Given the description of an element on the screen output the (x, y) to click on. 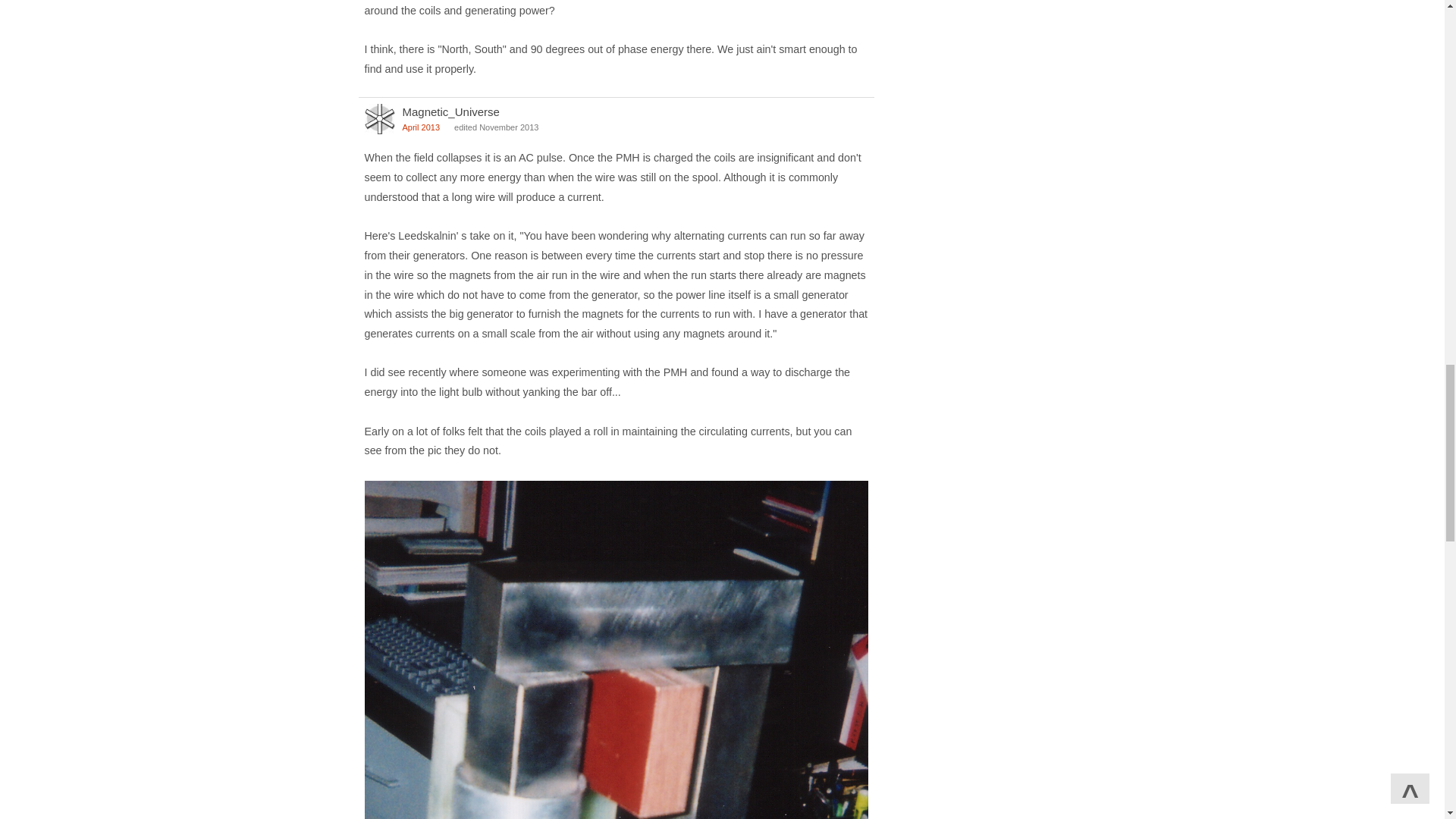
Edited November 25, 2013 9:23AM by Gardener. (496, 126)
April 15, 2013 10:44PM (420, 126)
April 2013 (420, 126)
